Given the description of an element on the screen output the (x, y) to click on. 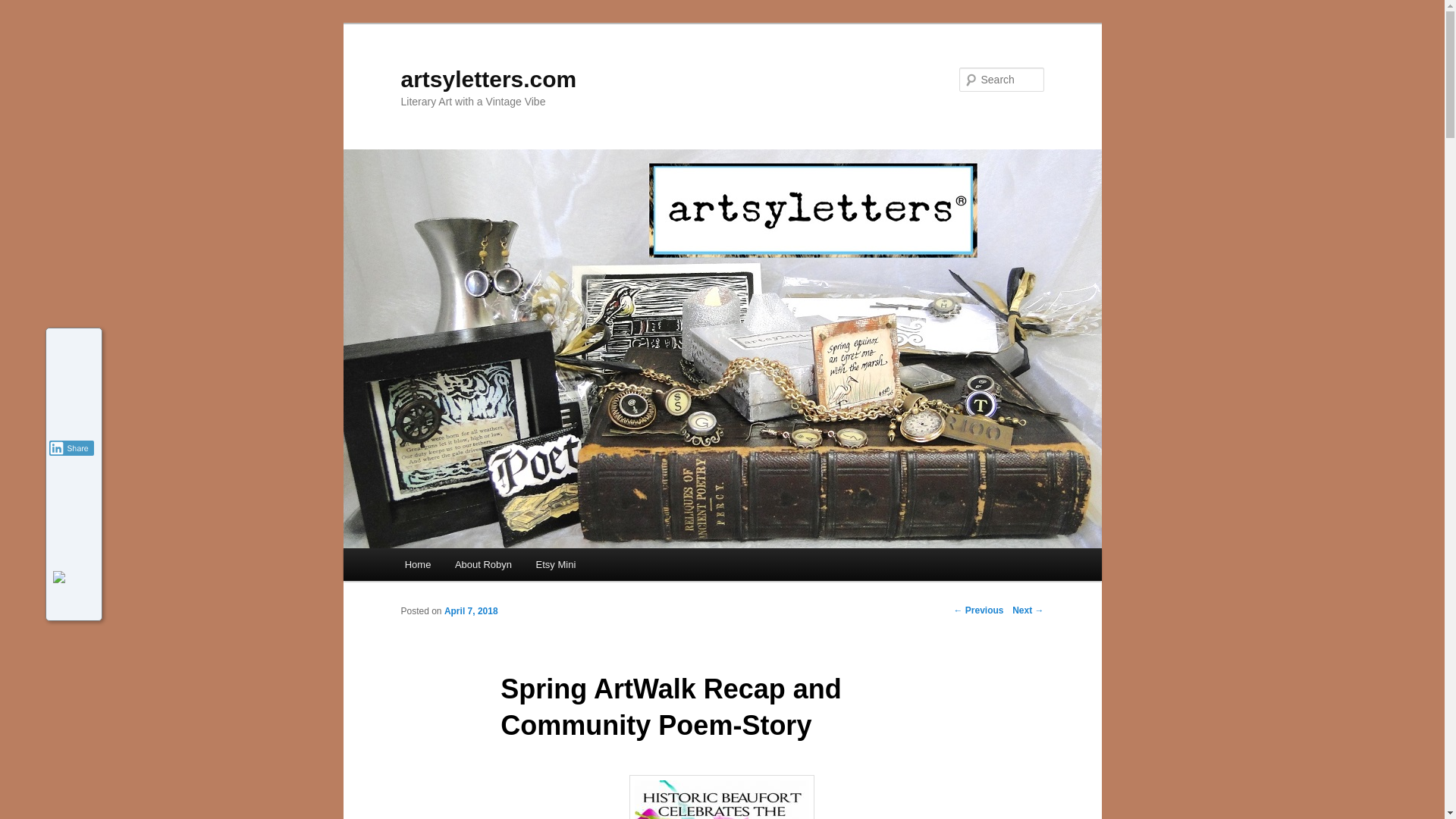
Skip to secondary content (479, 566)
About Robyn (483, 563)
Skip to primary content (472, 566)
Skip to primary content (472, 566)
Search (24, 8)
April 7, 2018 (470, 611)
artsyletters.com (488, 78)
Etsy Mini (556, 563)
1:24 pm (470, 611)
Home (417, 563)
artsyletters.com (488, 78)
Skip to secondary content (479, 566)
Share (71, 447)
